Given the description of an element on the screen output the (x, y) to click on. 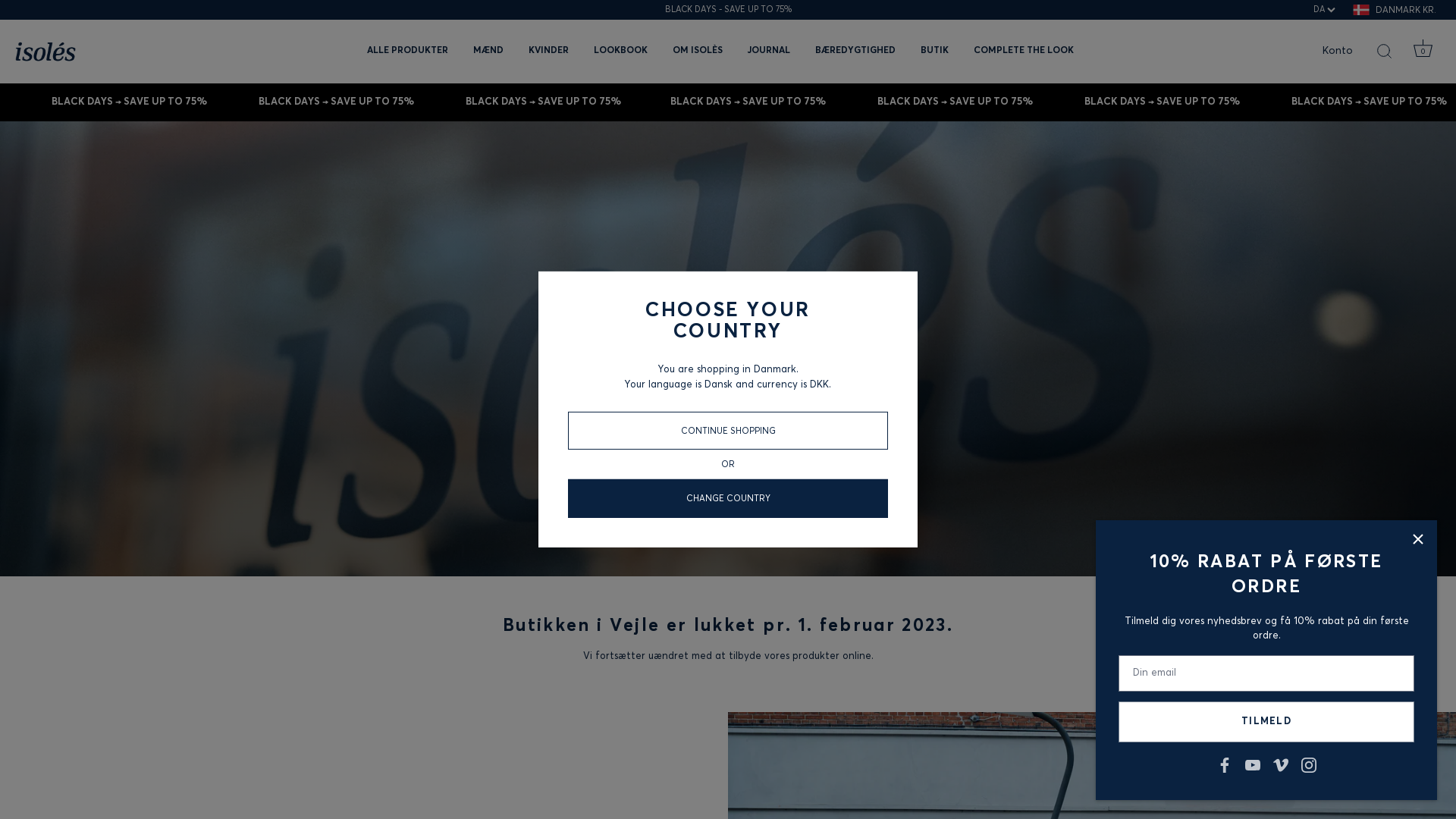
DA Element type: text (1328, 9)
COMPLETE THE LOOK Element type: text (1023, 51)
Vimeo Element type: text (1279, 764)
Youtube Element type: text (1252, 764)
BLACK DAYS - SAVE UP TO 75% Element type: text (727, 9)
BUTIK Element type: text (934, 51)
JOURNAL Element type: text (768, 51)
Konto Element type: text (1350, 51)
TILMELD Element type: text (1266, 721)
KVINDER Element type: text (548, 51)
Instagram Element type: text (1308, 764)
LOOKBOOK Element type: text (620, 51)
Cart
0 Element type: text (1422, 51)
ALLE PRODUKTER Element type: text (407, 51)
CHANGE COUNTRY Element type: text (727, 498)
